Given the description of an element on the screen output the (x, y) to click on. 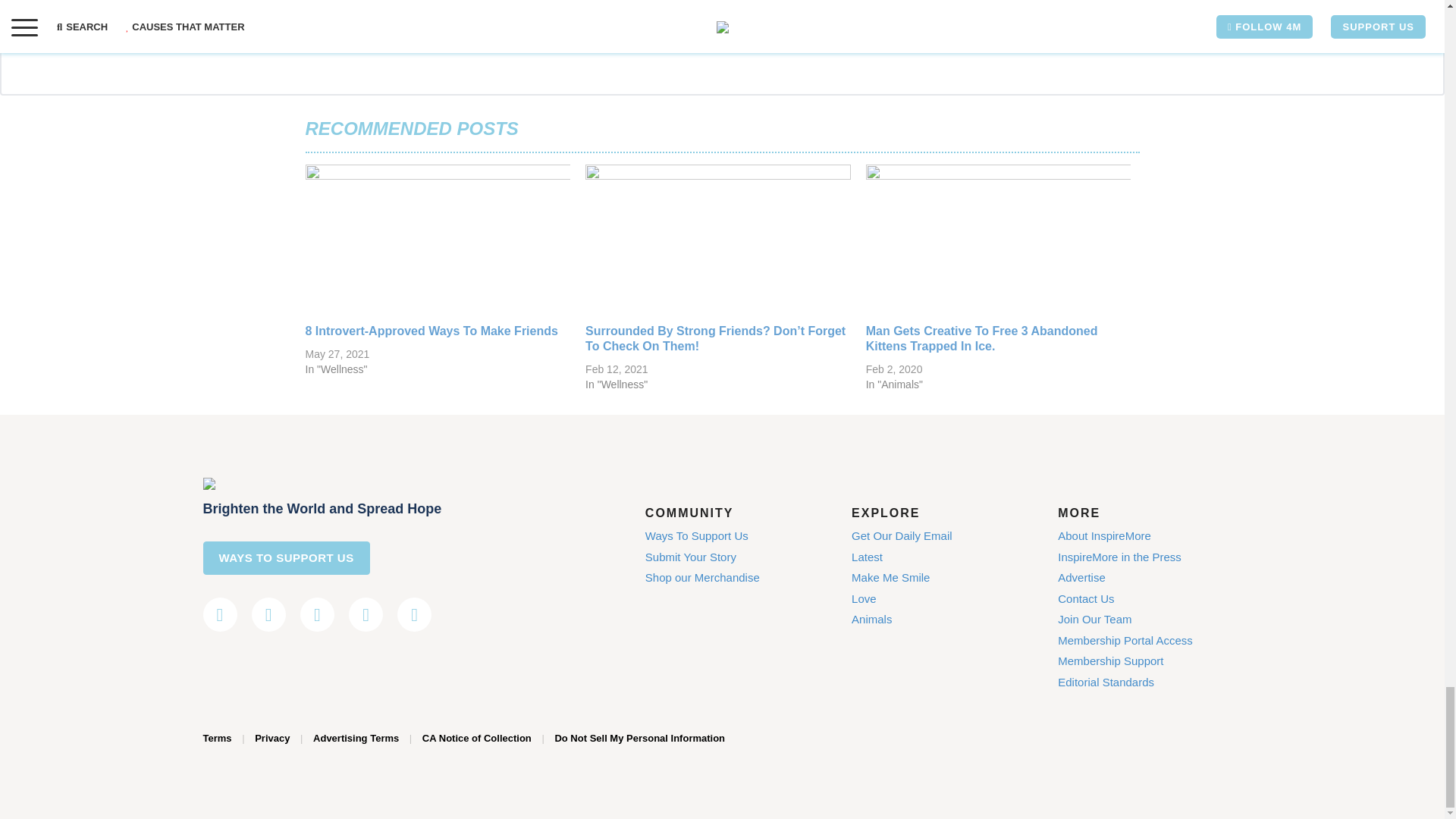
8 Introvert-Approved Ways To Make Friends (430, 330)
8 Introvert-Approved Ways To Make Friends (430, 330)
8 Introvert-Approved Ways To Make Friends (437, 240)
